Given the description of an element on the screen output the (x, y) to click on. 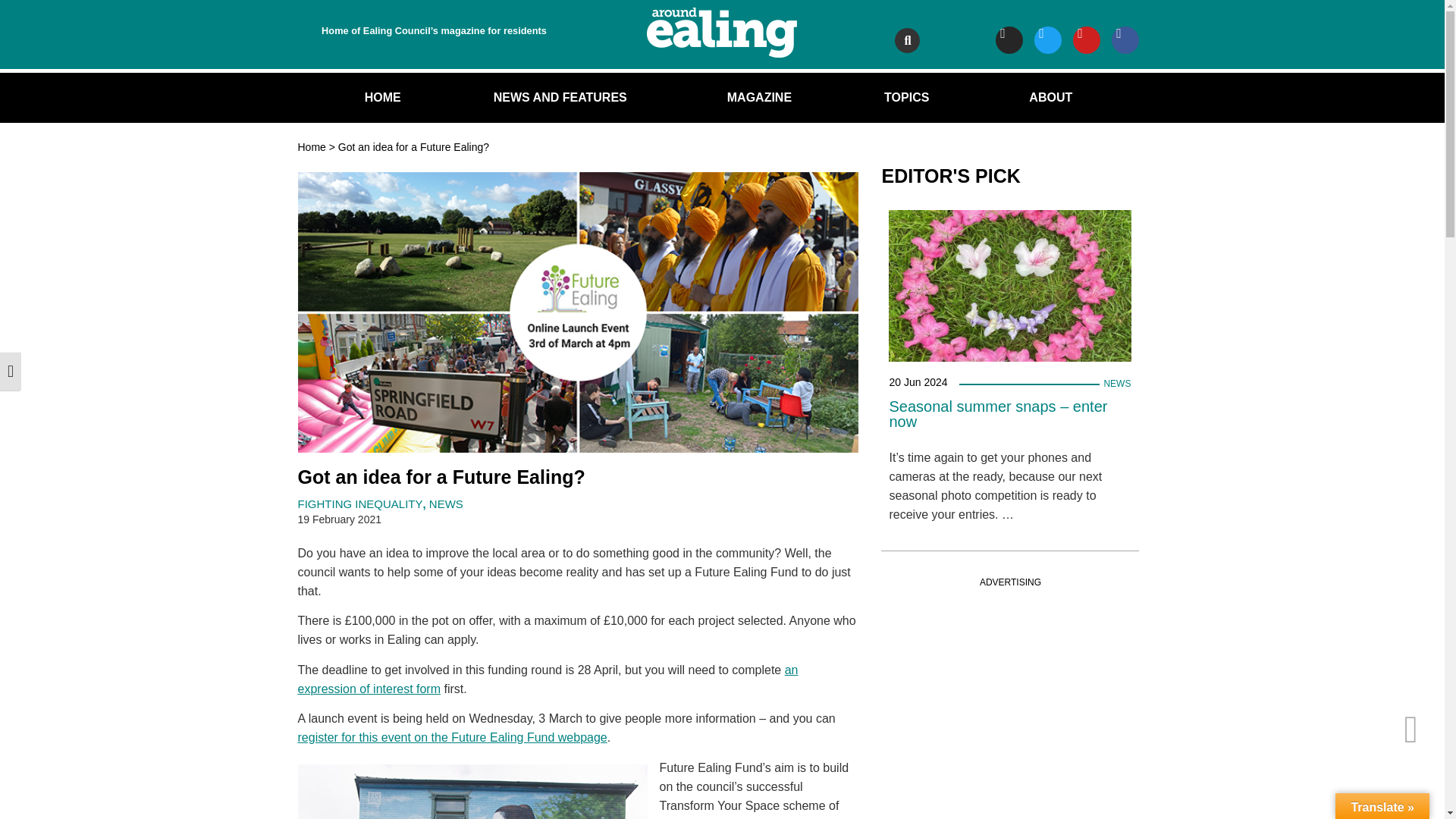
NEWS AND FEATURES (564, 97)
MAGAZINE (758, 97)
HOME (382, 97)
ABOUT (1053, 97)
TOPICS (910, 97)
